Given the description of an element on the screen output the (x, y) to click on. 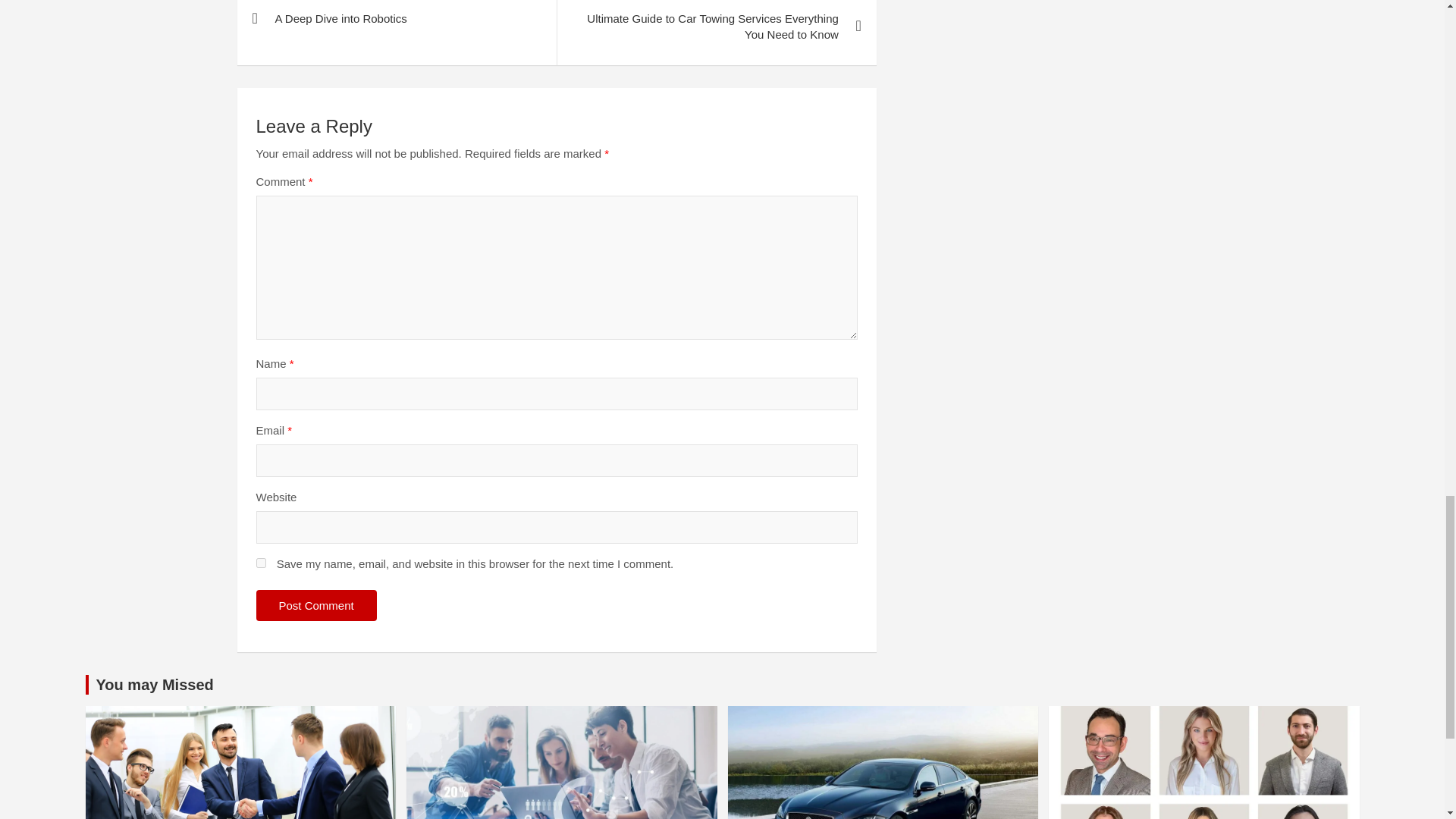
A Deep Dive into Robotics (395, 24)
You may Missed (154, 684)
Post Comment (316, 604)
Post Comment (316, 604)
yes (261, 562)
